Given the description of an element on the screen output the (x, y) to click on. 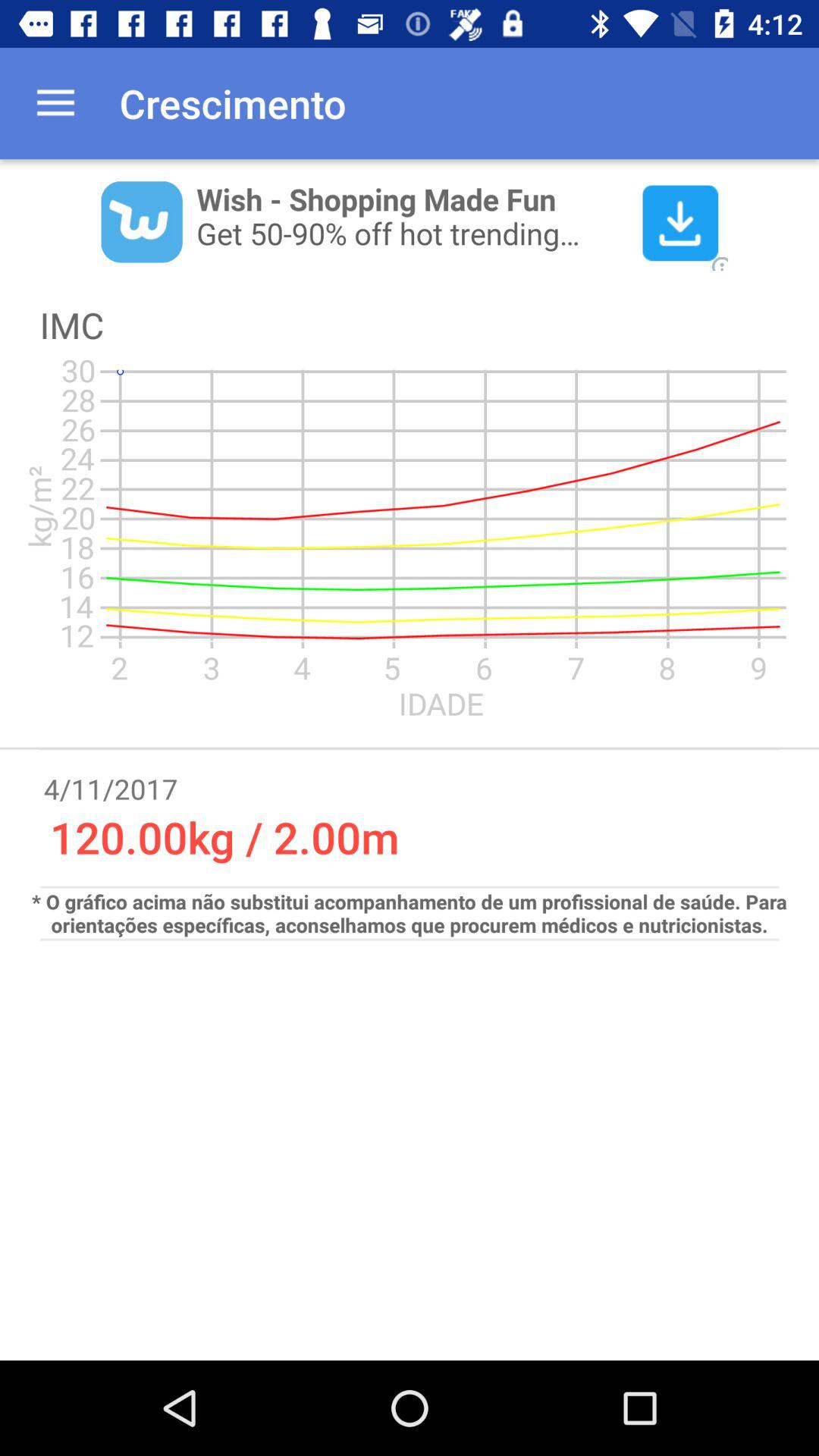
open advertisement (409, 220)
